Given the description of an element on the screen output the (x, y) to click on. 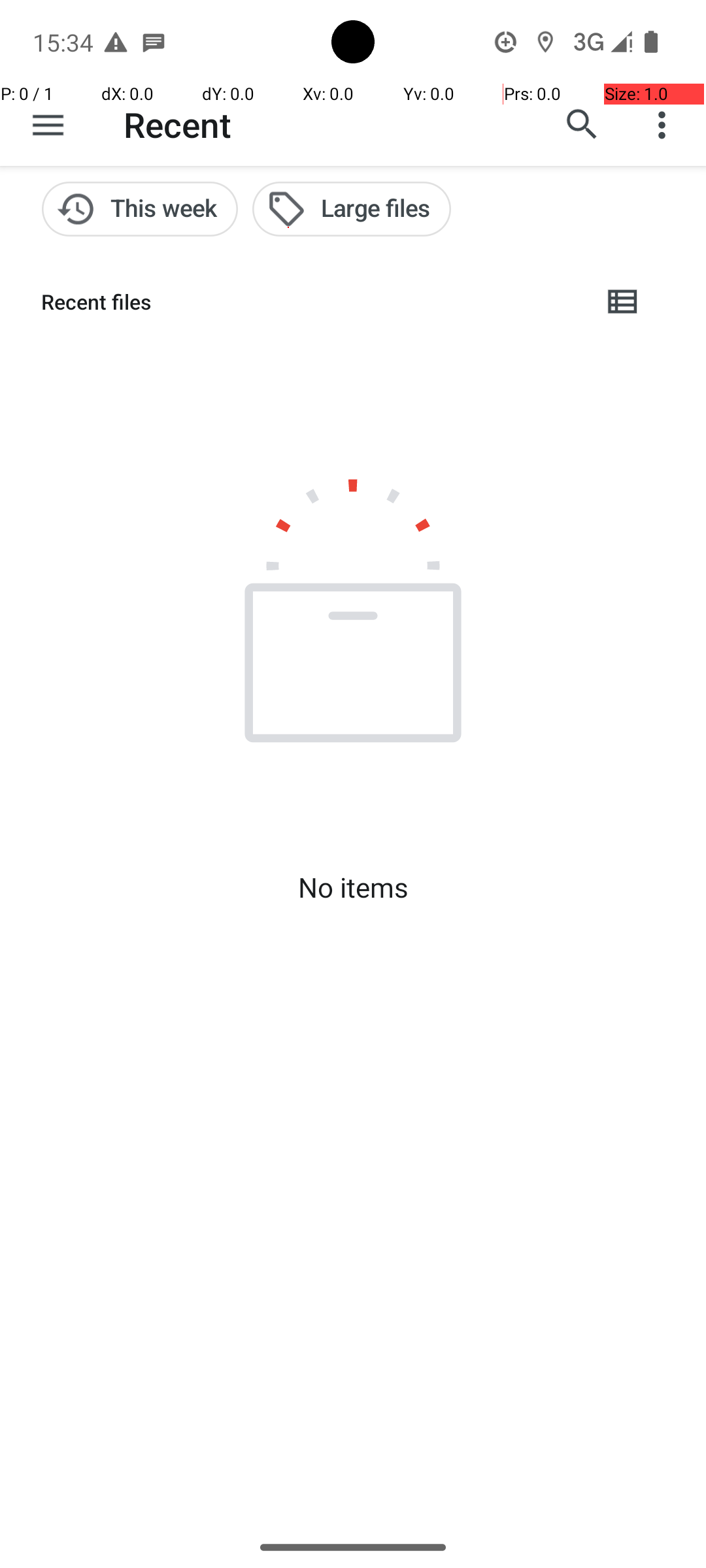
Show roots Element type: android.widget.ImageButton (48, 124)
Recent Element type: android.widget.TextView (177, 124)
Recent files Element type: android.widget.TextView (311, 301)
List view Element type: android.widget.TextView (622, 301)
This week Element type: android.widget.CompoundButton (139, 208)
Large files Element type: android.widget.CompoundButton (351, 208)
No items Element type: android.widget.TextView (352, 886)
